Given the description of an element on the screen output the (x, y) to click on. 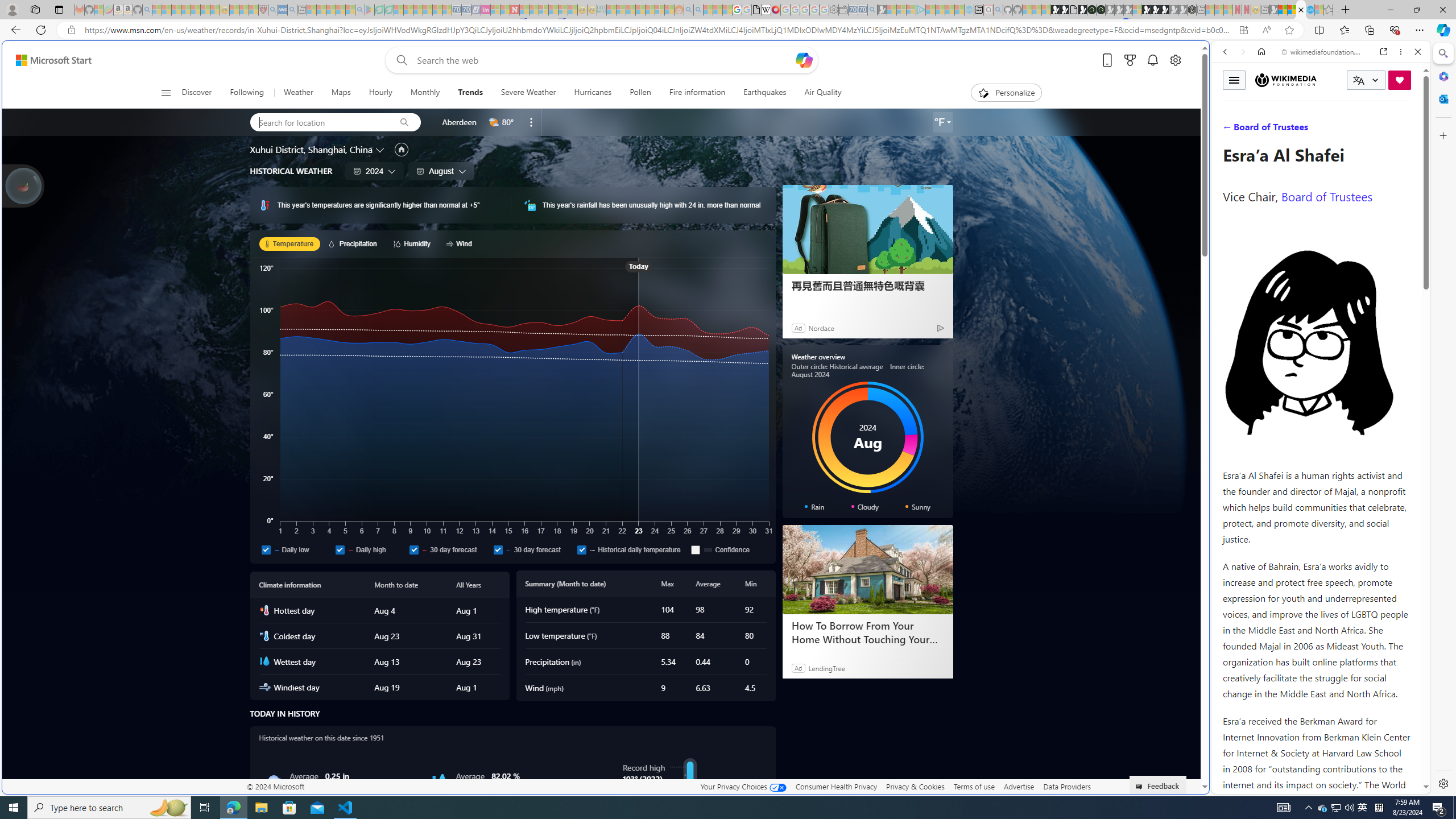
Trends (470, 92)
Pollen (639, 92)
Rain (273, 781)
